Given the description of an element on the screen output the (x, y) to click on. 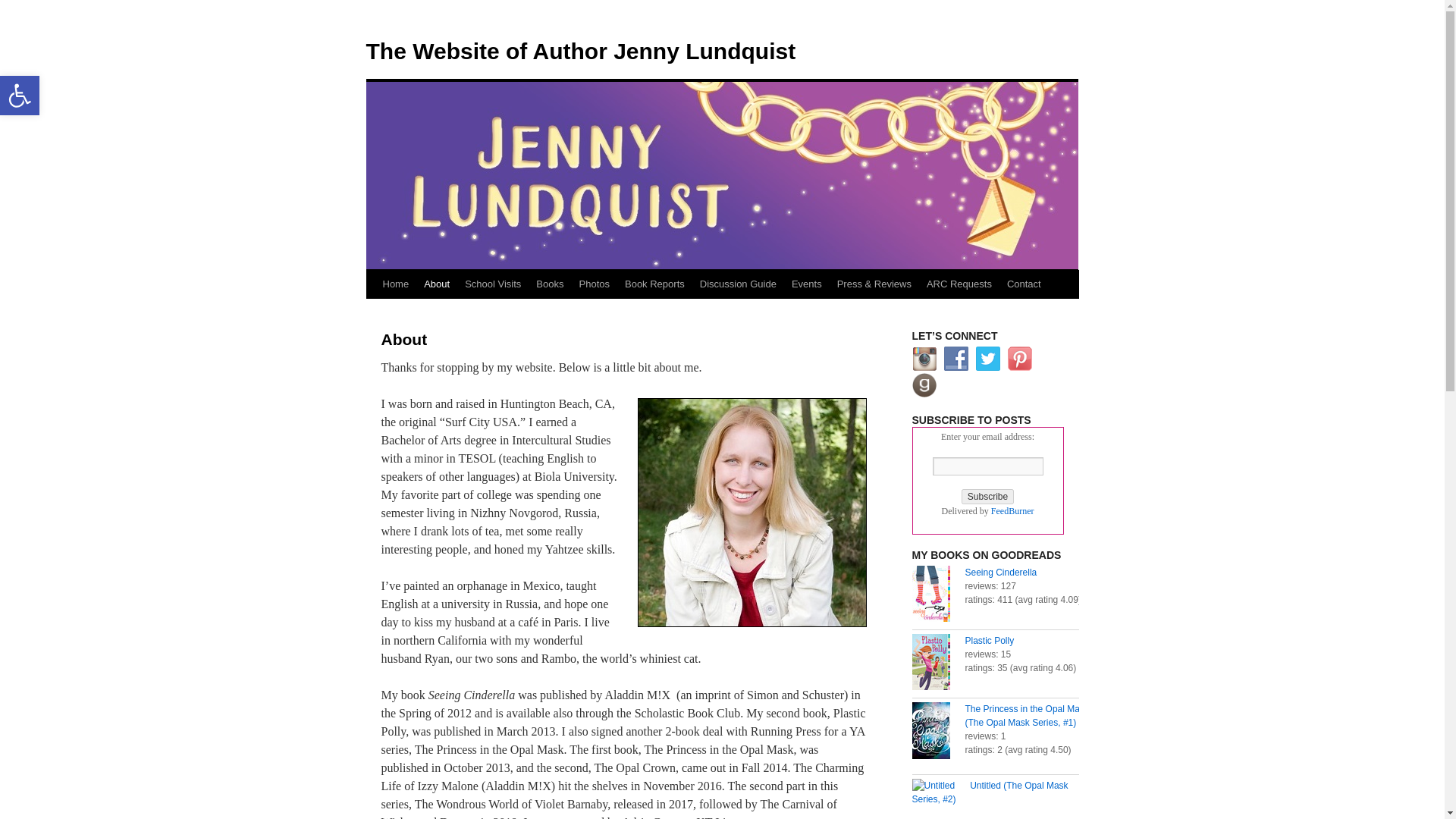
Plastic Polly (988, 640)
Books (549, 284)
Discussion Guide (738, 284)
Home (395, 284)
Book Reports (655, 284)
 Pinterest (1018, 358)
Accessibility Tools (19, 95)
Events (806, 284)
About (436, 284)
Subscribe (986, 496)
ARC Requests (958, 284)
School Visits (492, 284)
Jenny Lundquist Author (751, 512)
FeedBurner (1012, 511)
Photos (594, 284)
